Given the description of an element on the screen output the (x, y) to click on. 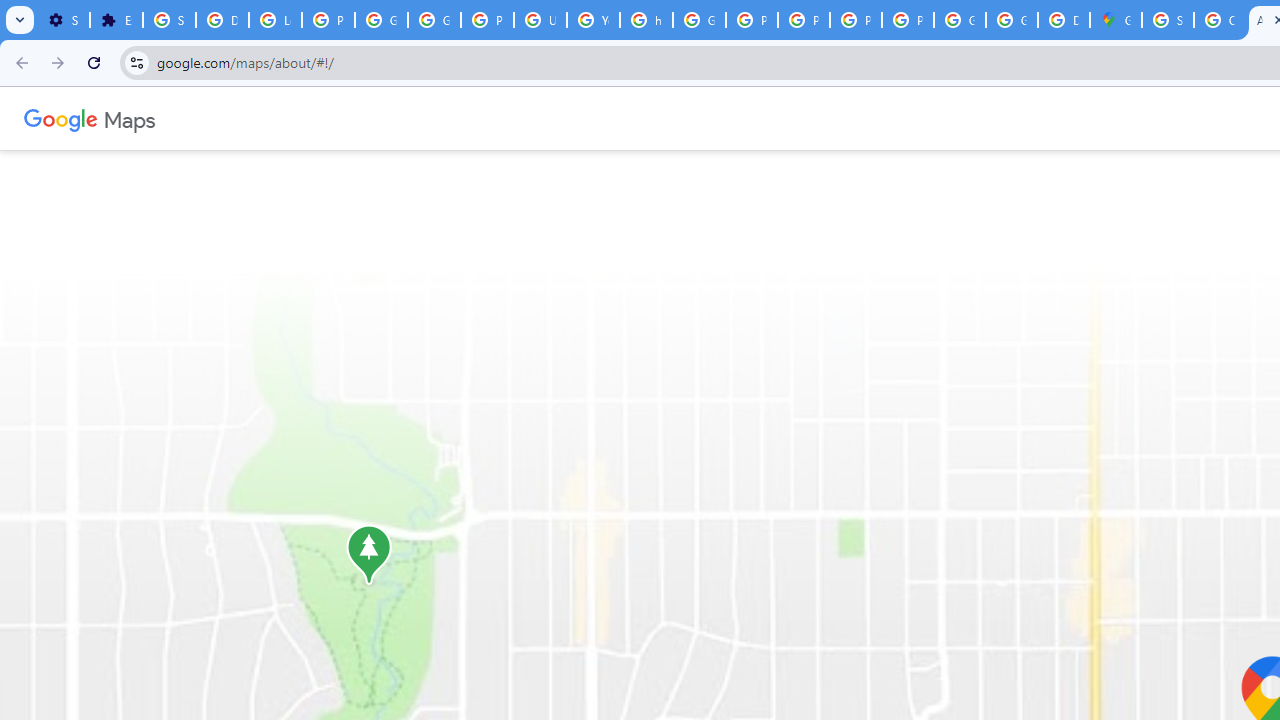
Delete photos & videos - Computer - Google Photos Help (222, 20)
Privacy Help Center - Policies Help (751, 20)
Google Account Help (434, 20)
Sign in - Google Accounts (1167, 20)
Maps (129, 118)
Google Account Help (381, 20)
Create your Google Account (1219, 20)
Google (61, 118)
